Given the description of an element on the screen output the (x, y) to click on. 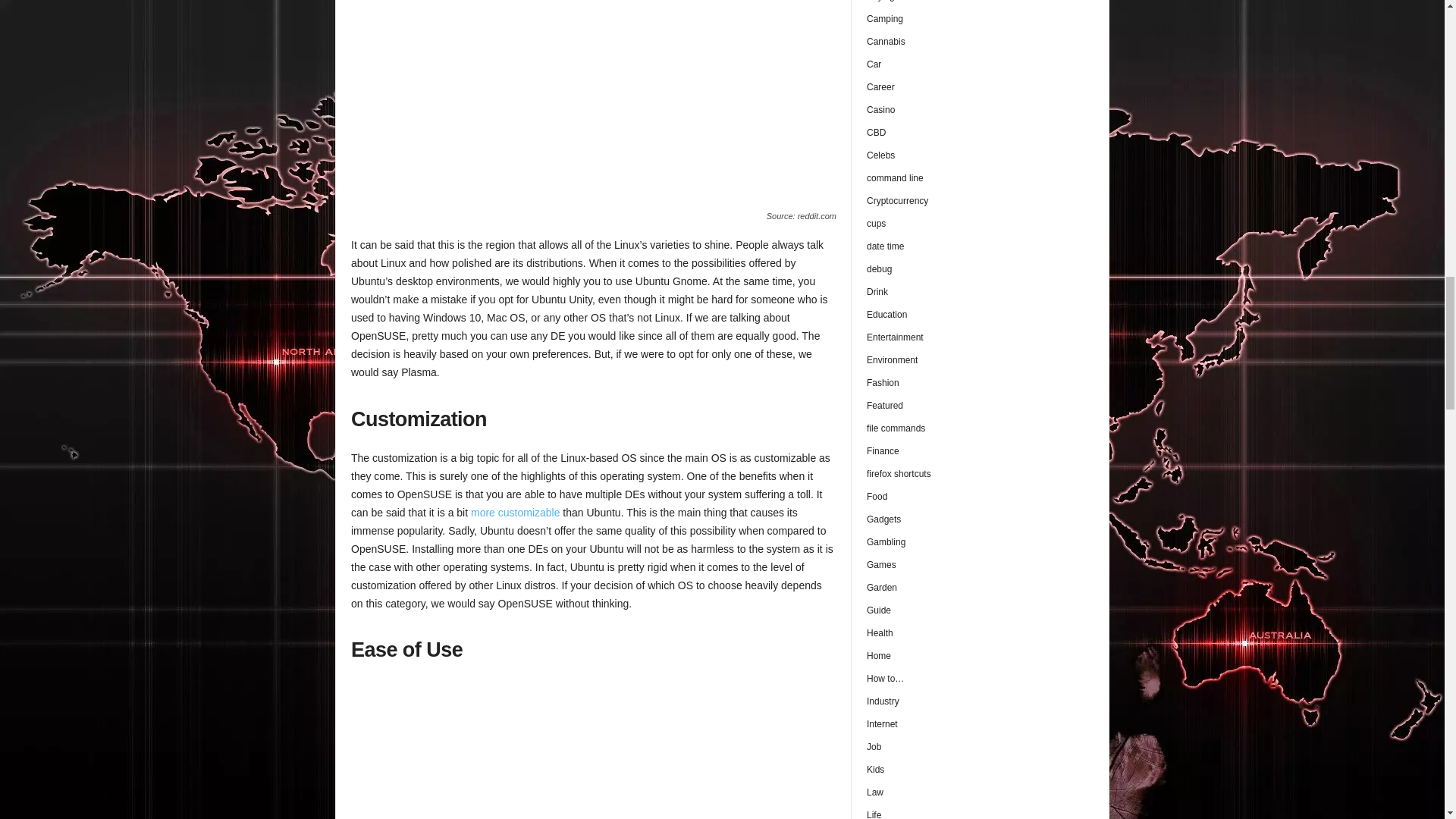
more customizable (515, 512)
